Given the description of an element on the screen output the (x, y) to click on. 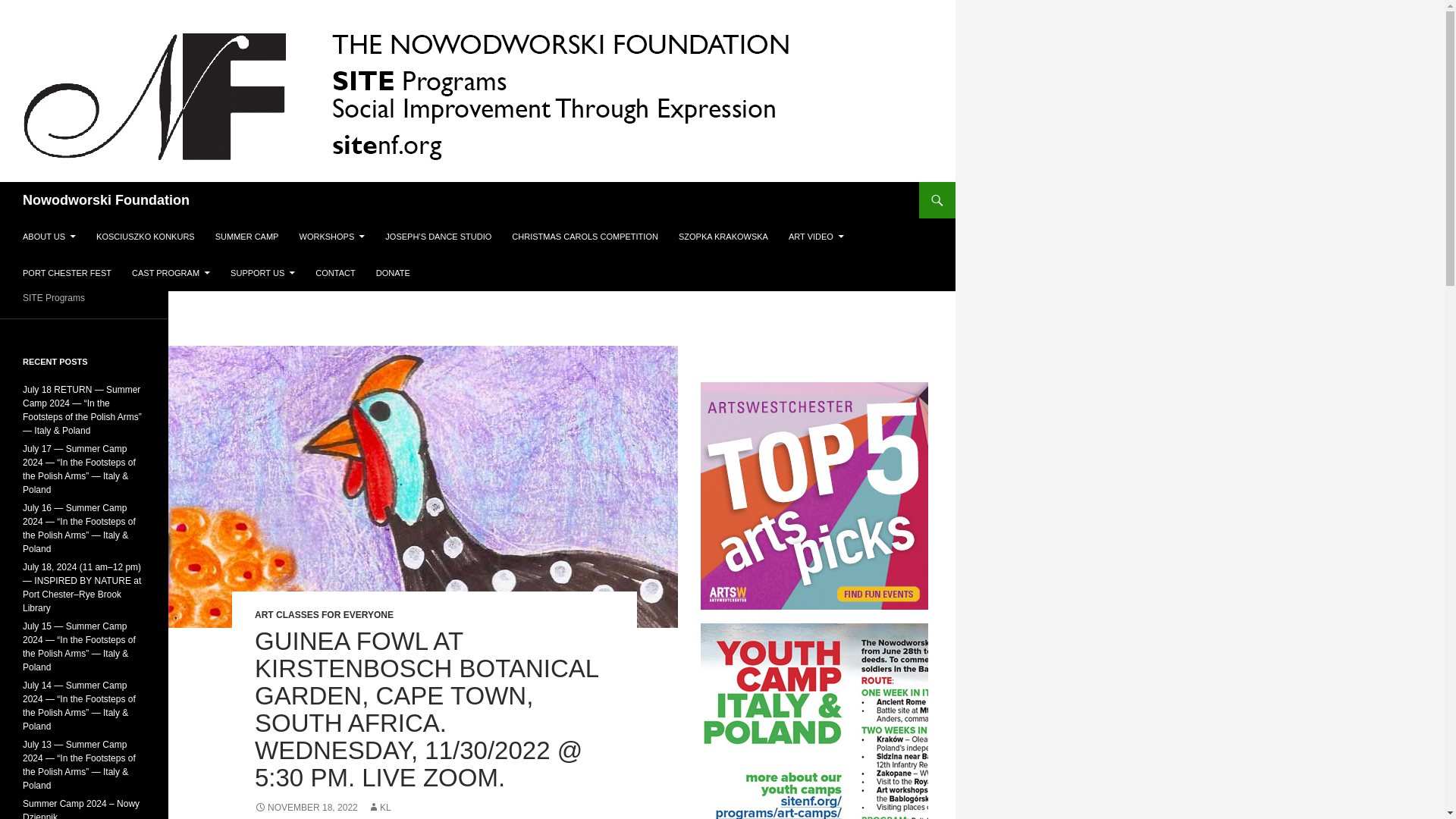
KOSCIUSZKO KONKURS (145, 236)
ABOUT US (48, 236)
WORKSHOPS (331, 236)
SUMMER CAMP (247, 236)
SZOPKA KRAKOWSKA (723, 236)
Nowodworski Foundation (106, 199)
ART VIDEO (815, 236)
CHRISTMAS CAROLS COMPETITION (584, 236)
PORT CHESTER FEST (66, 272)
CAST PROGRAM (170, 272)
